Given the description of an element on the screen output the (x, y) to click on. 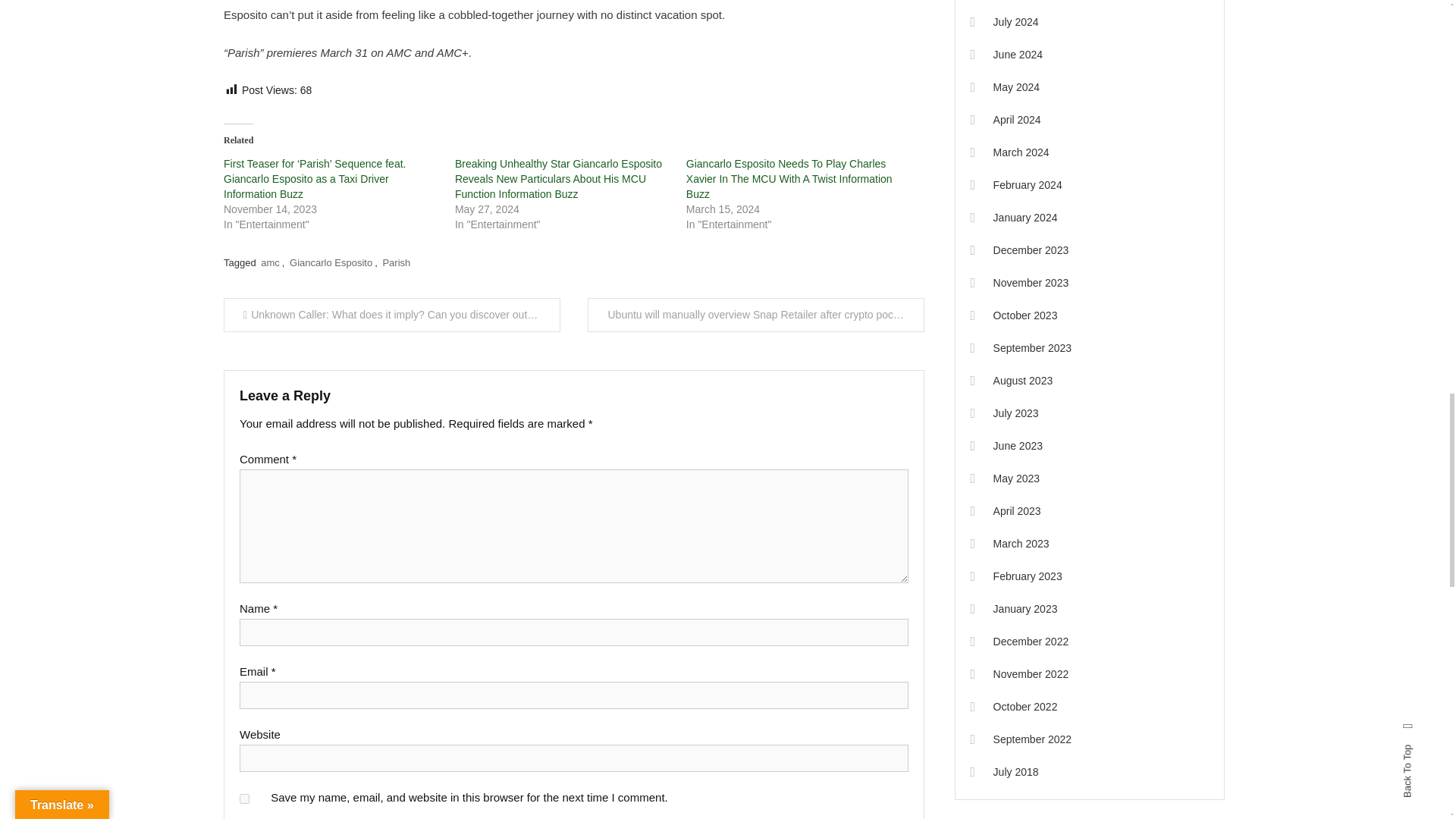
Parish (395, 262)
Giancarlo Esposito (330, 262)
amc (269, 262)
yes (244, 798)
